Given the description of an element on the screen output the (x, y) to click on. 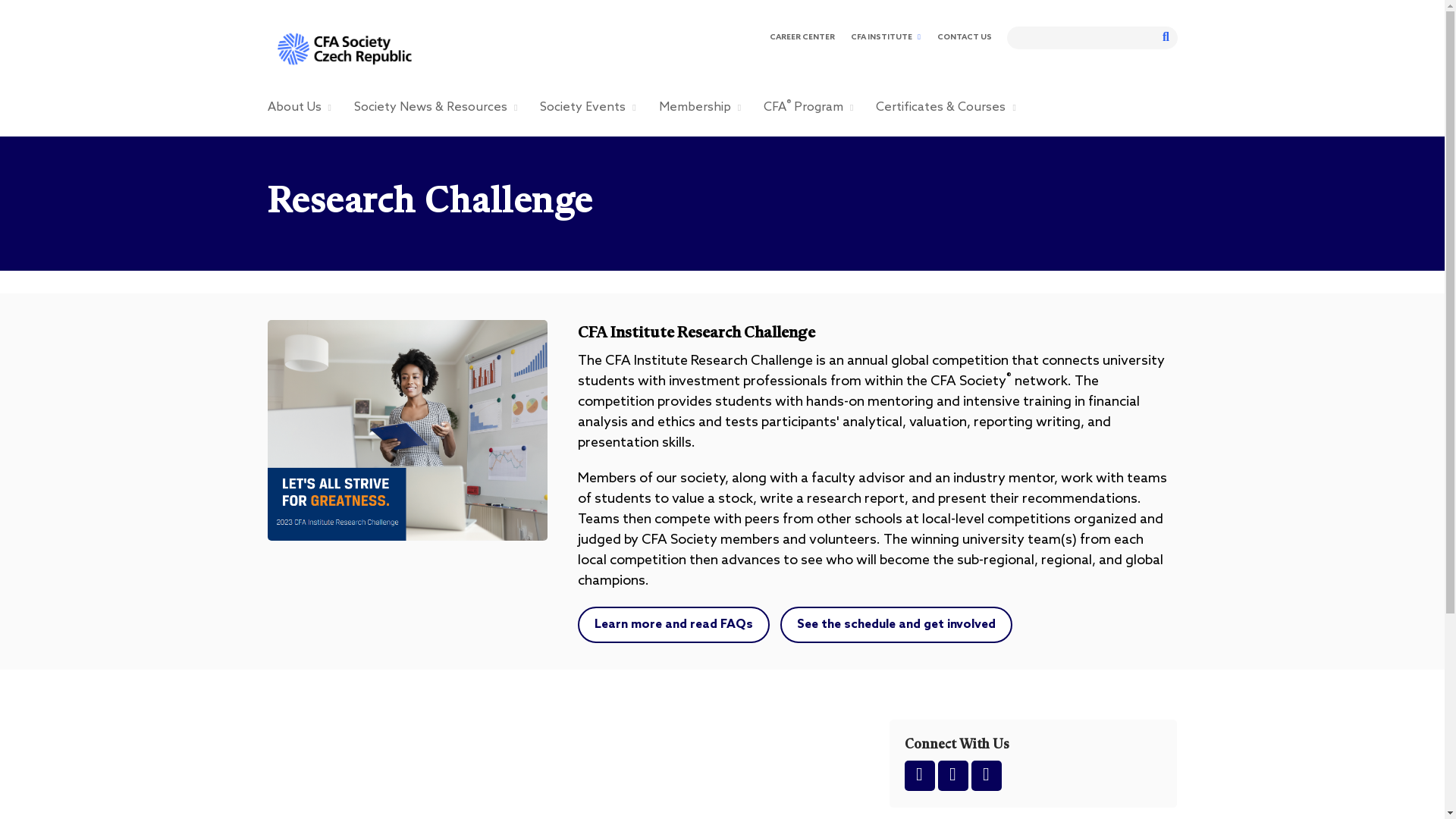
How to get in contact with us (963, 36)
CONTACT US (963, 36)
search (1081, 37)
CAREER CENTER (801, 36)
Membership (700, 107)
CFA INSTITUTE (885, 36)
About Us (298, 107)
Society Events (587, 107)
